Given the description of an element on the screen output the (x, y) to click on. 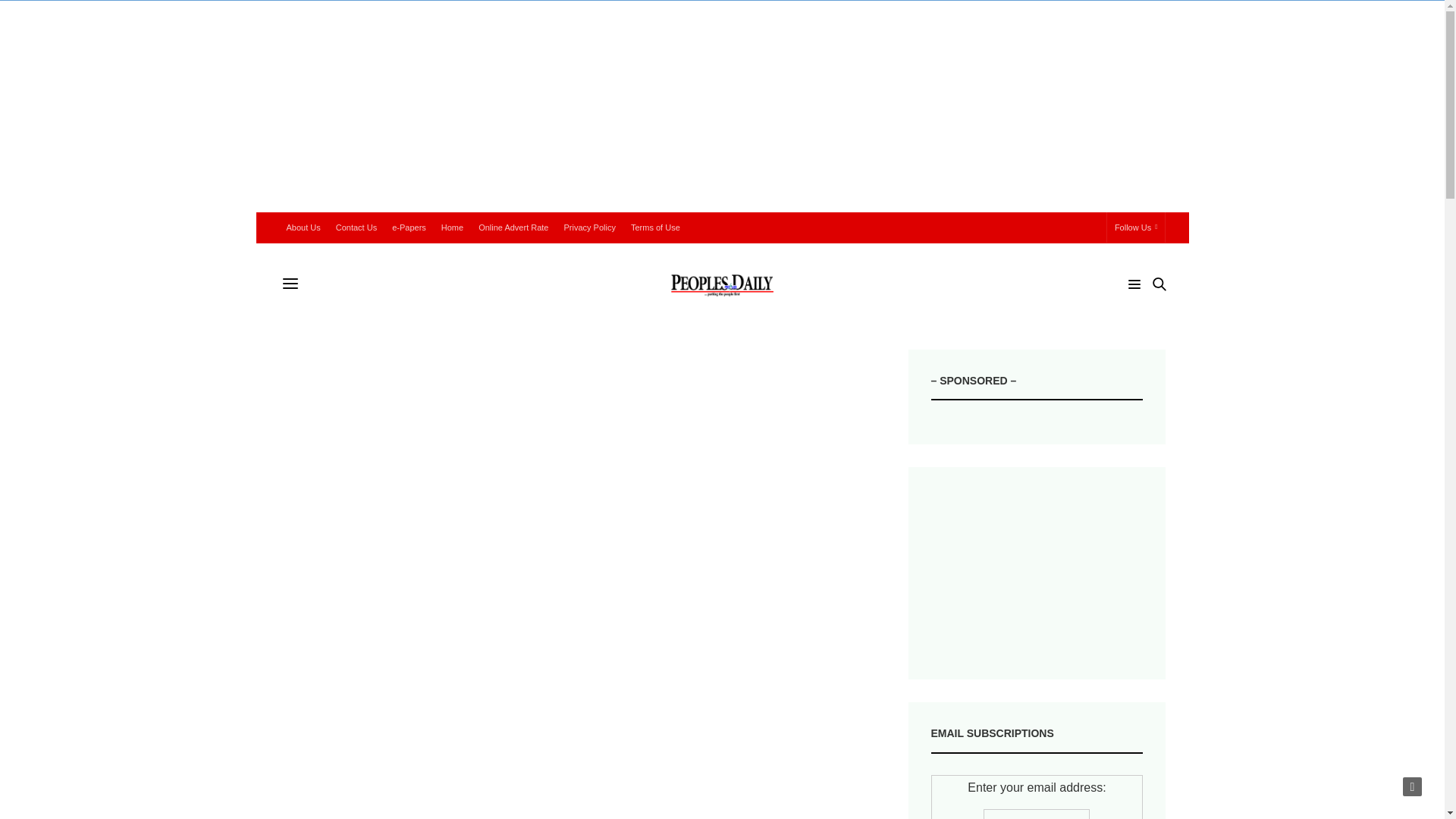
About Us (304, 227)
Contact Us (356, 227)
Follow Us (1136, 227)
Online Advert Rate (513, 227)
Privacy Policy (589, 227)
Home (451, 227)
e-Papers (408, 227)
Search (1137, 312)
Terms of Use (655, 227)
